Given the description of an element on the screen output the (x, y) to click on. 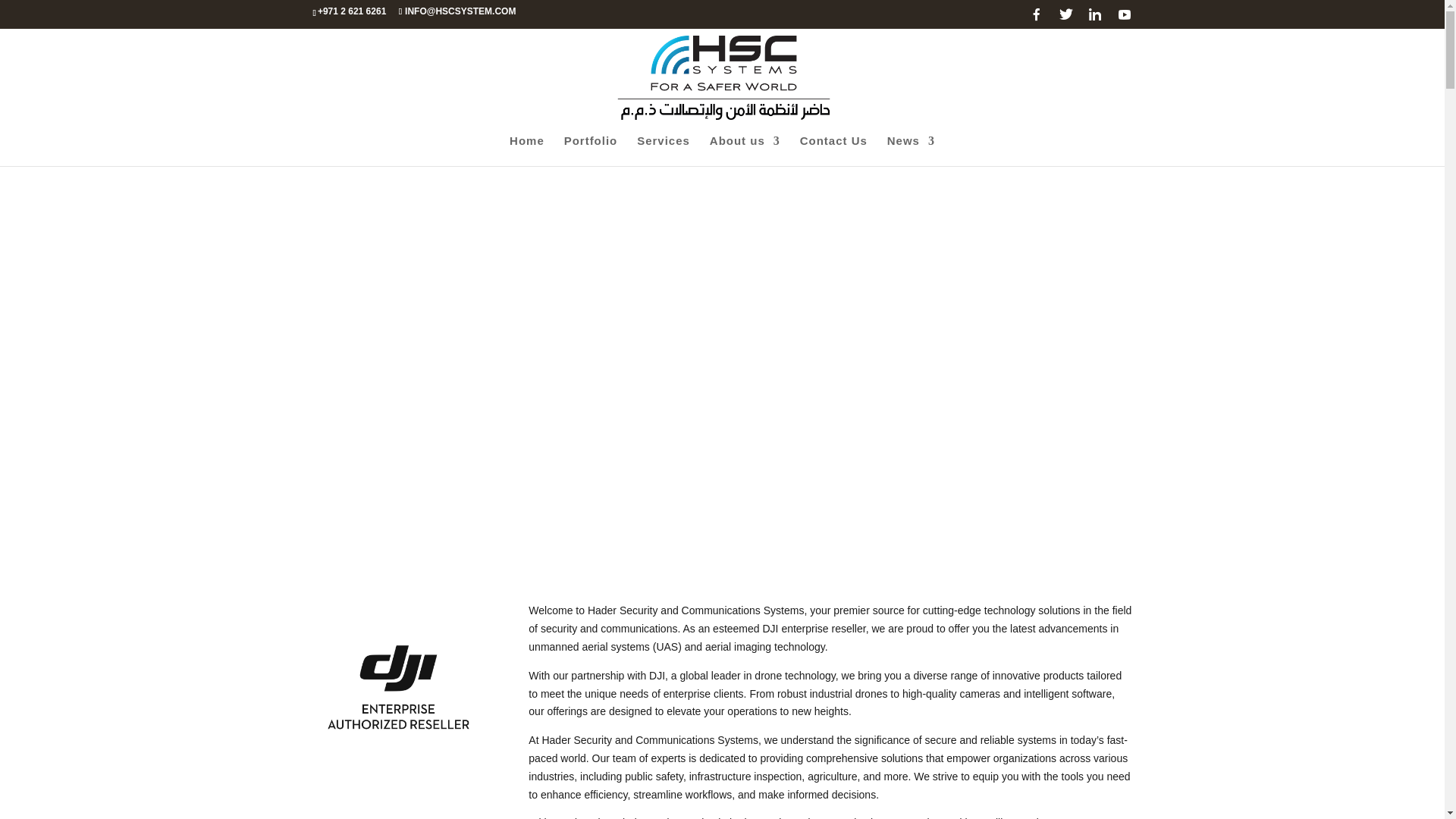
News (910, 150)
Portfolio (590, 150)
Contact Us (833, 150)
About us (745, 150)
Services (663, 150)
Home (526, 150)
